Given the description of an element on the screen output the (x, y) to click on. 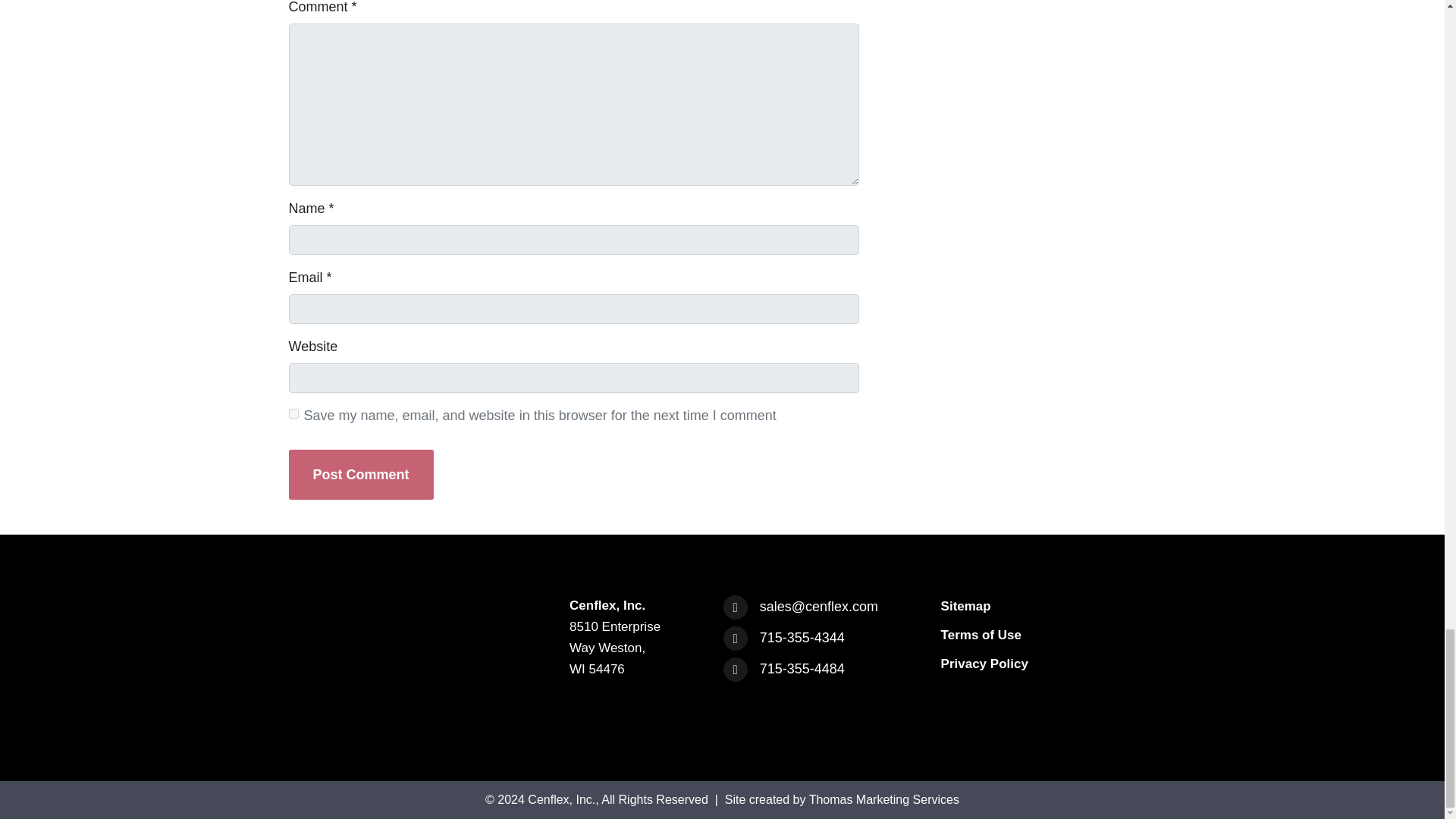
Post Comment (360, 474)
yes (293, 413)
